Given the description of an element on the screen output the (x, y) to click on. 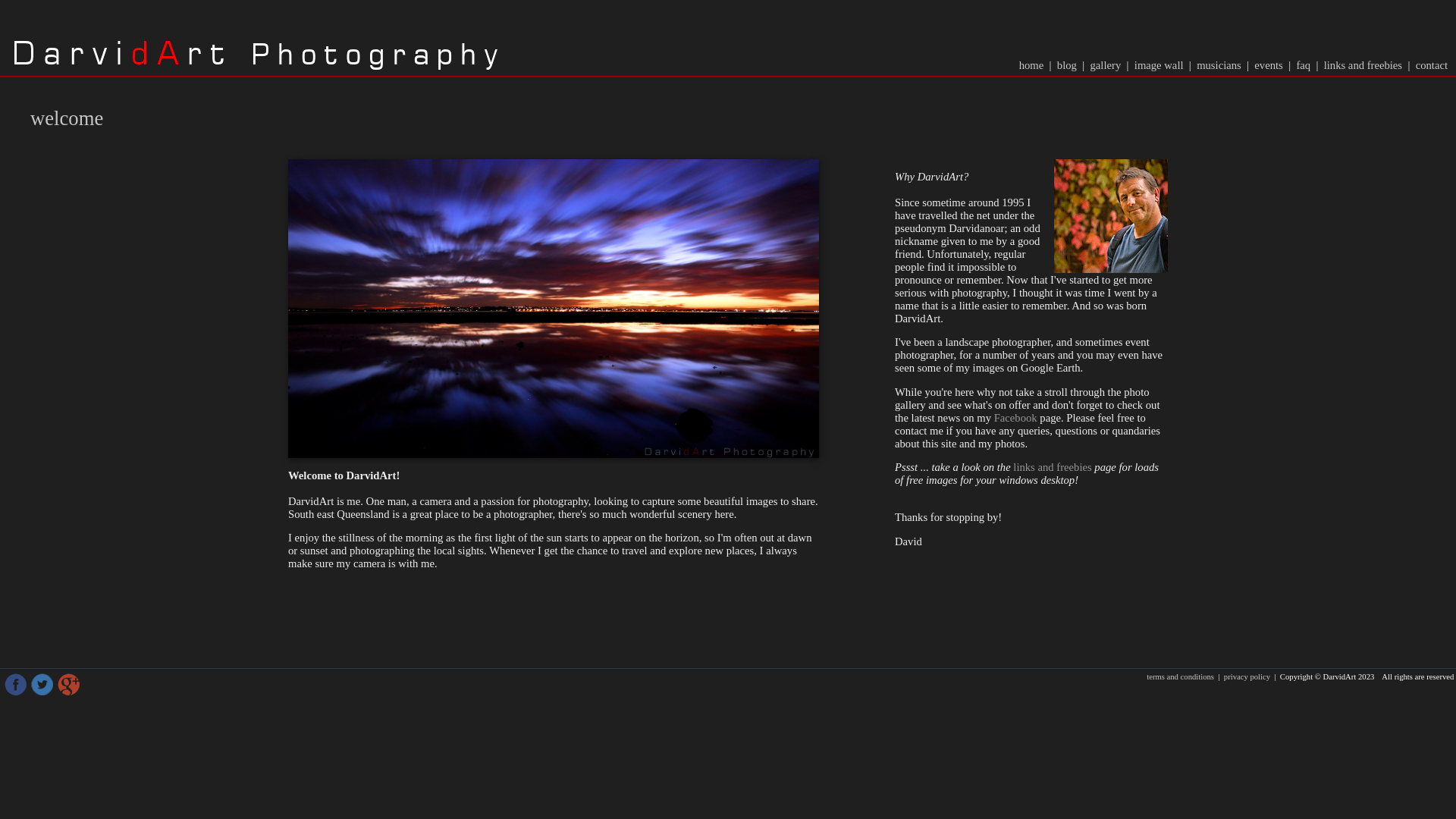
  blog   Element type: text (1066, 65)
  contact   Element type: text (1430, 65)
  links and freebies   Element type: text (1362, 65)
  faq   Element type: text (1302, 65)
  image wall   Element type: text (1158, 65)
  musicians   Element type: text (1218, 65)
links and freebies Element type: text (1052, 467)
  events   Element type: text (1268, 65)
 terms and conditions   Element type: text (1181, 676)
 home   Element type: text (1032, 65)
Facebook Element type: text (1015, 417)
  gallery   Element type: text (1105, 65)
  privacy policy   Element type: text (1246, 676)
